Given the description of an element on the screen output the (x, y) to click on. 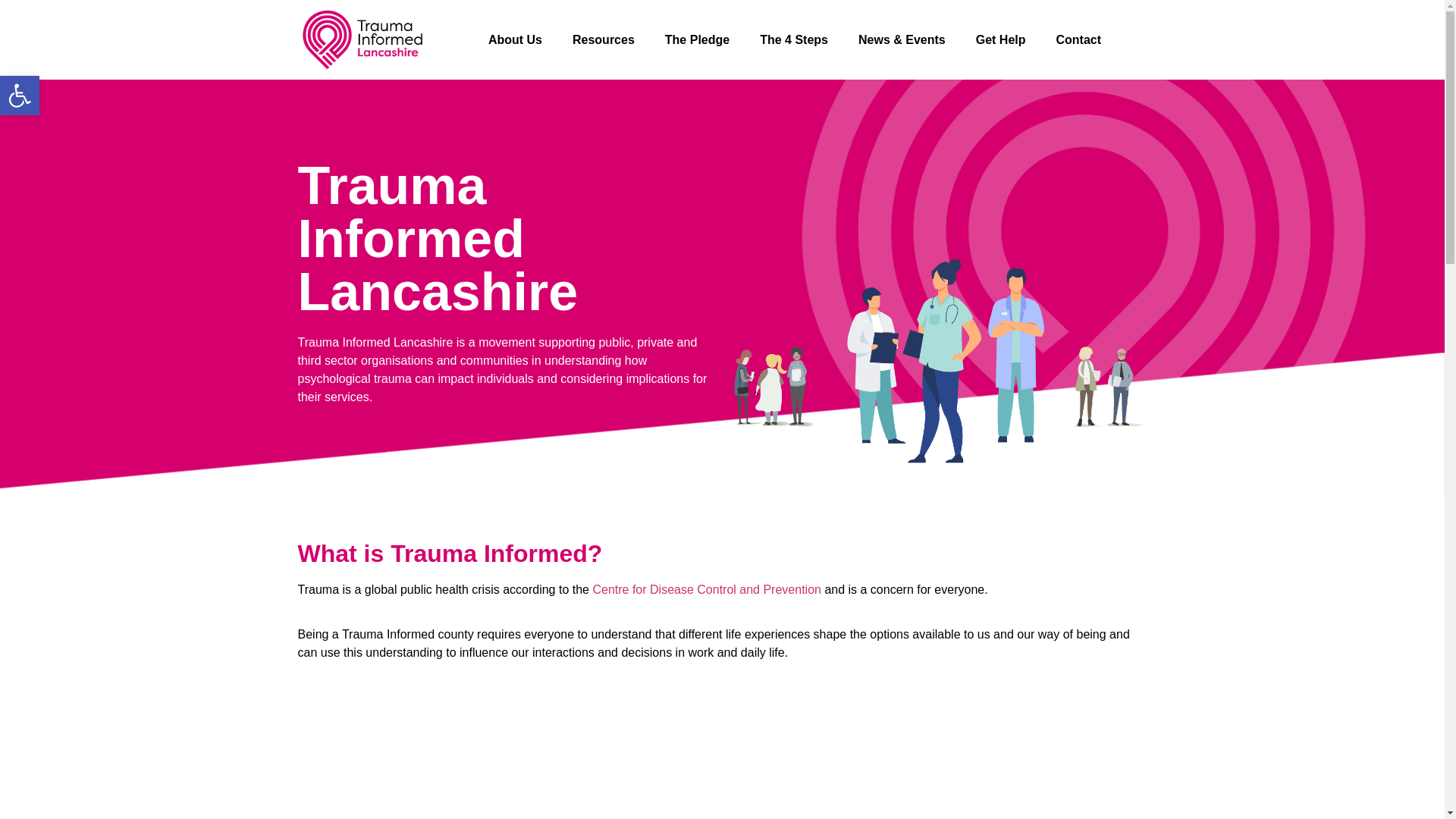
Get Help (1000, 39)
About Us (515, 39)
Resources (603, 39)
Accessibility Tools (19, 95)
Centre for Disease Control and Prevention (706, 589)
The 4 Steps (19, 95)
Contact (793, 39)
The Pledge (1078, 39)
Accessibility Tools (696, 39)
